Given the description of an element on the screen output the (x, y) to click on. 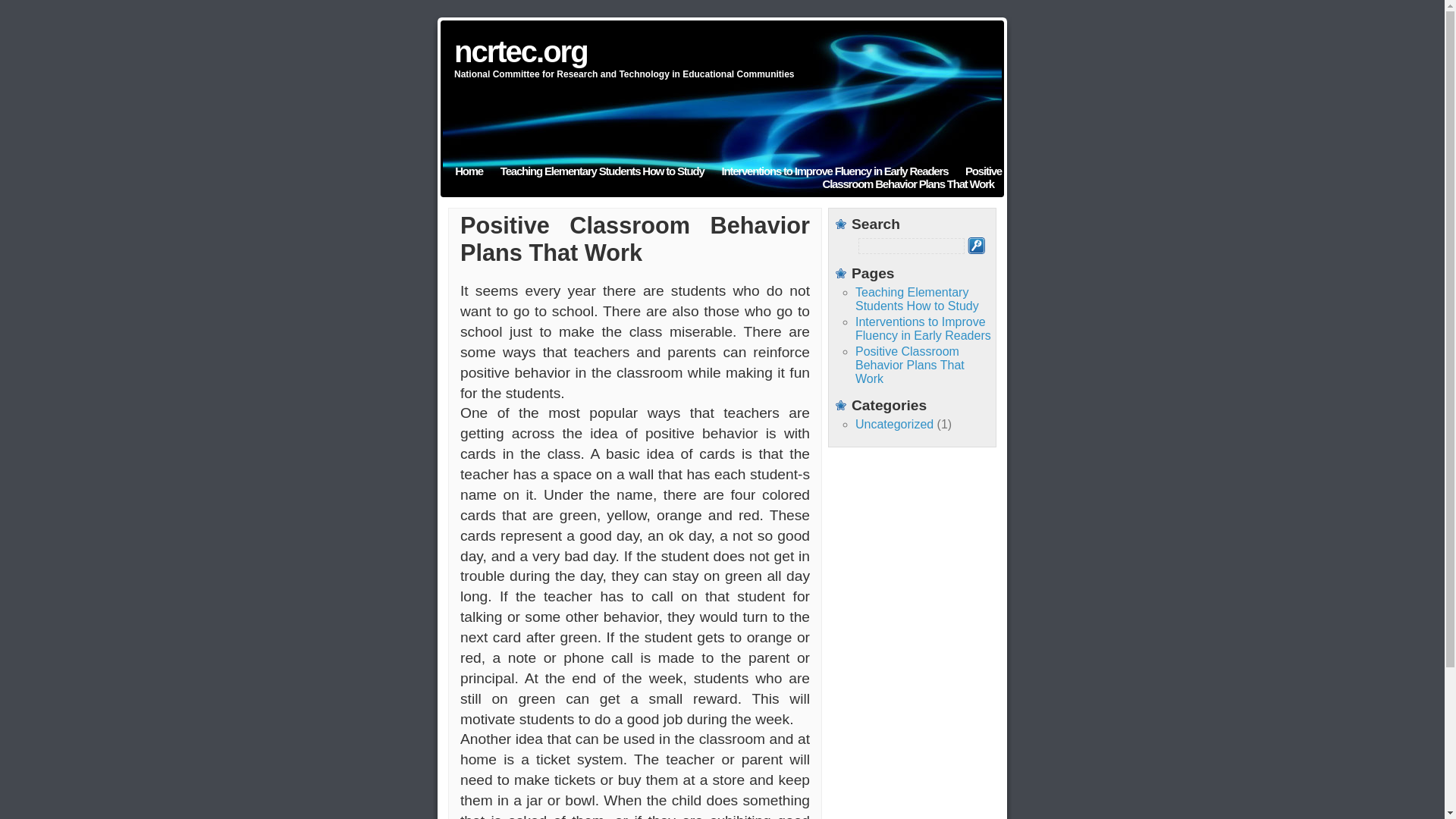
Interventions to Improve Fluency in Early Readers (923, 328)
Interventions to Improve Fluency in Early Readers (833, 170)
Positive Classroom Behavior Plans That Work (909, 364)
Teaching Elementary Students How to Study (602, 170)
Interventions to Improve Fluency in Early Readers (923, 328)
Positive Classroom Behavior Plans That Work (909, 364)
Teaching Elementary Students How to Study (917, 298)
Teaching Elementary Students How to Study (602, 170)
Interventions to Improve Fluency in Early Readers (833, 170)
Home (468, 170)
Positive Classroom Behavior Plans That Work (911, 177)
Teaching Elementary Students How to Study (917, 298)
ncrtec.org (521, 51)
View all posts filed under Uncategorized (894, 423)
Uncategorized (894, 423)
